Given the description of an element on the screen output the (x, y) to click on. 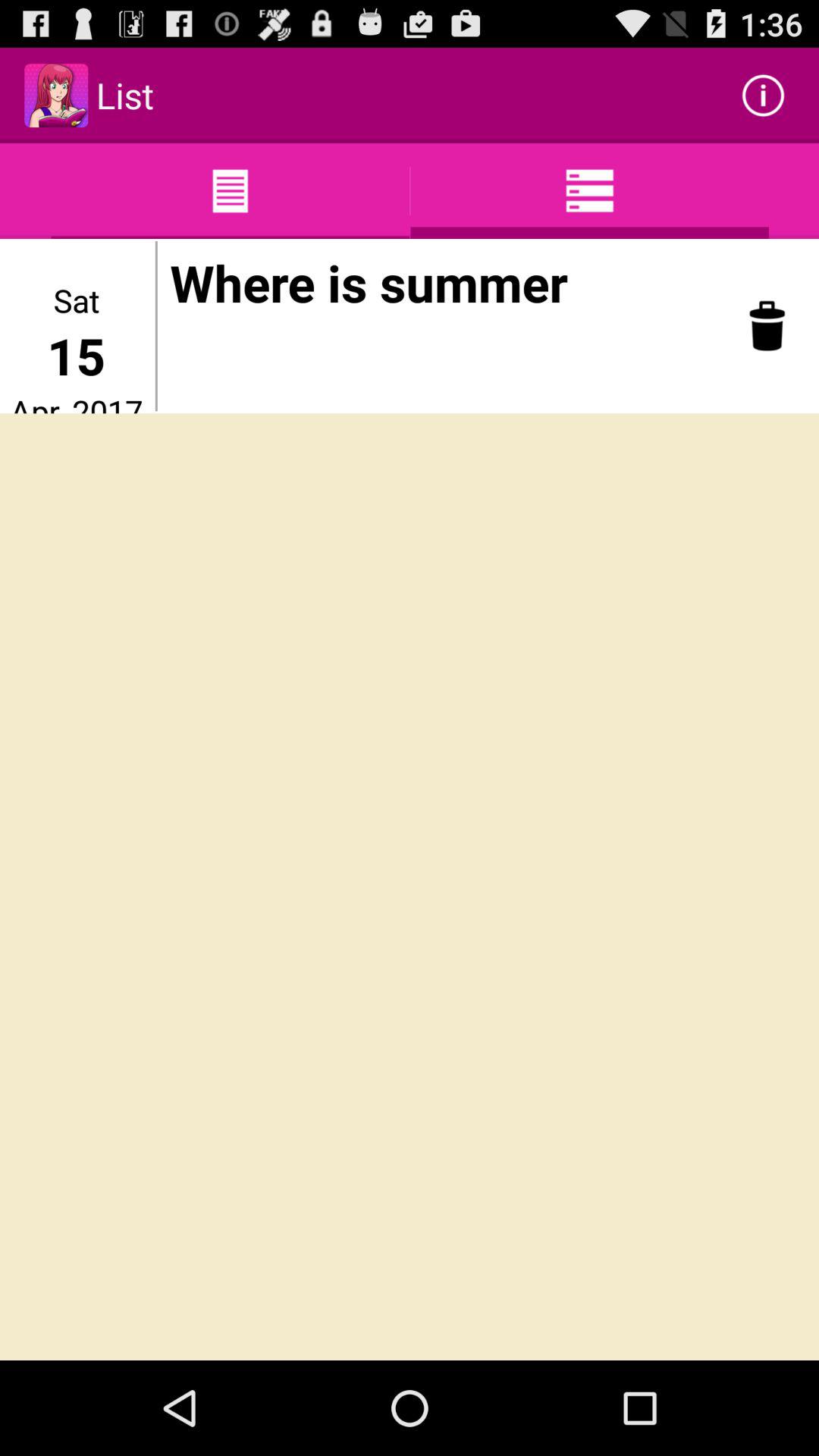
flip until the apr, 2017 item (76, 401)
